Given the description of an element on the screen output the (x, y) to click on. 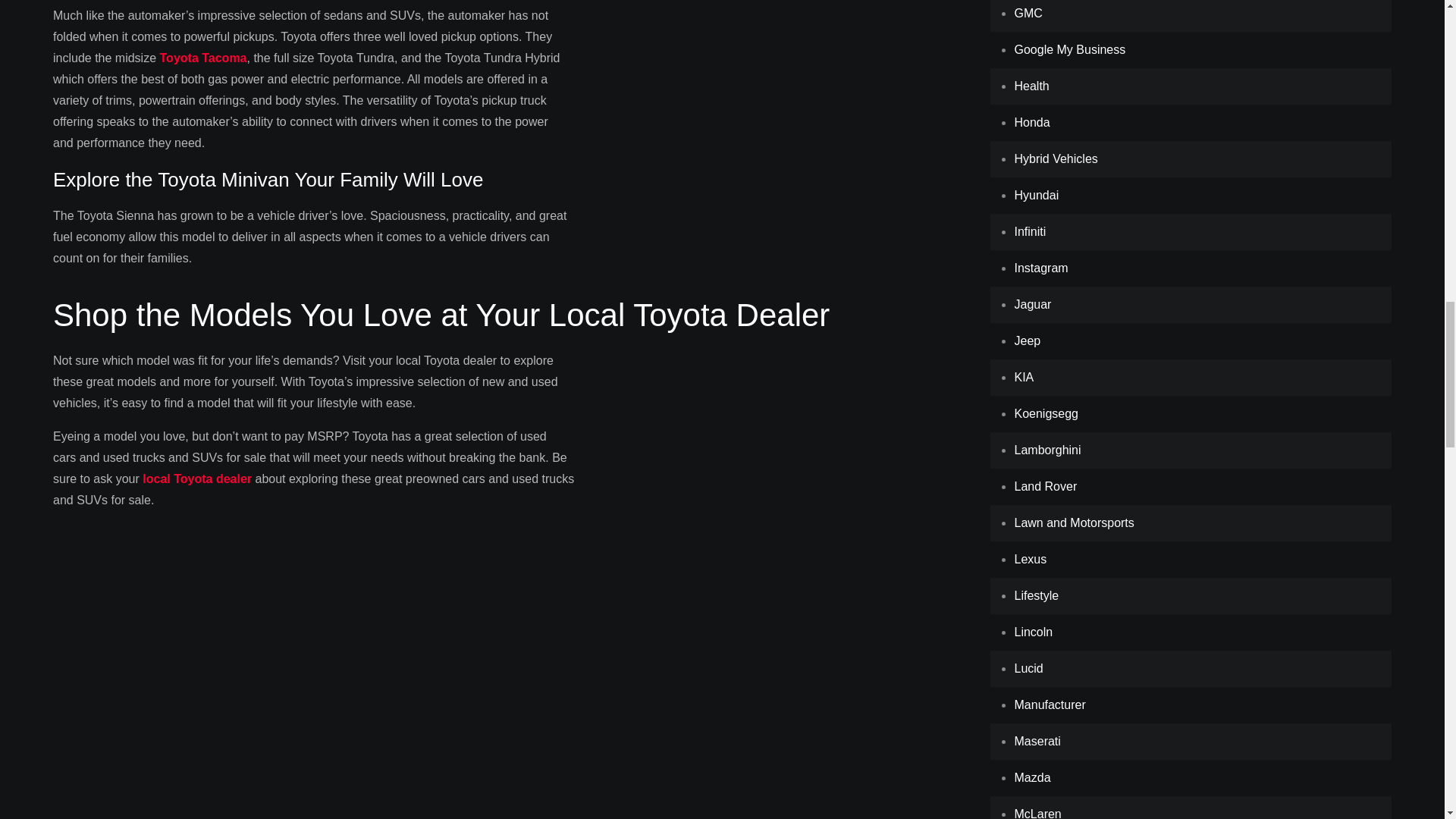
Toyota Tacoma (203, 57)
local Toyota dealer (196, 478)
